Given the description of an element on the screen output the (x, y) to click on. 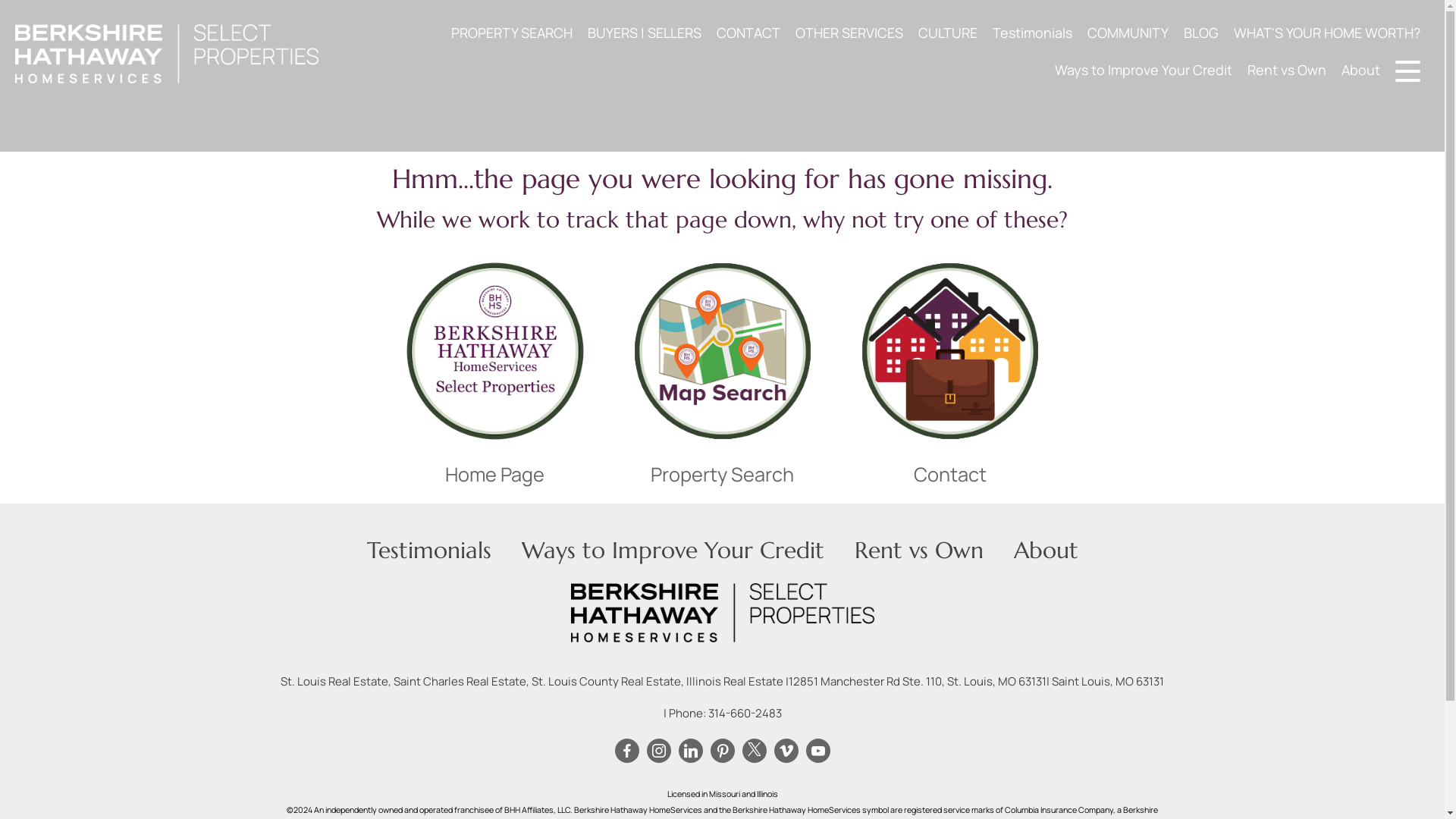
CONTACT (748, 32)
Visit me on Pinterest (722, 750)
CULTURE (948, 32)
Let's go home (494, 350)
Visit me on LinkedIn (690, 750)
Testimonials (1032, 32)
Visit me on Facebook (626, 750)
Visit me on Vimeo (785, 750)
About (1045, 550)
Rent vs Own (917, 550)
